Given the description of an element on the screen output the (x, y) to click on. 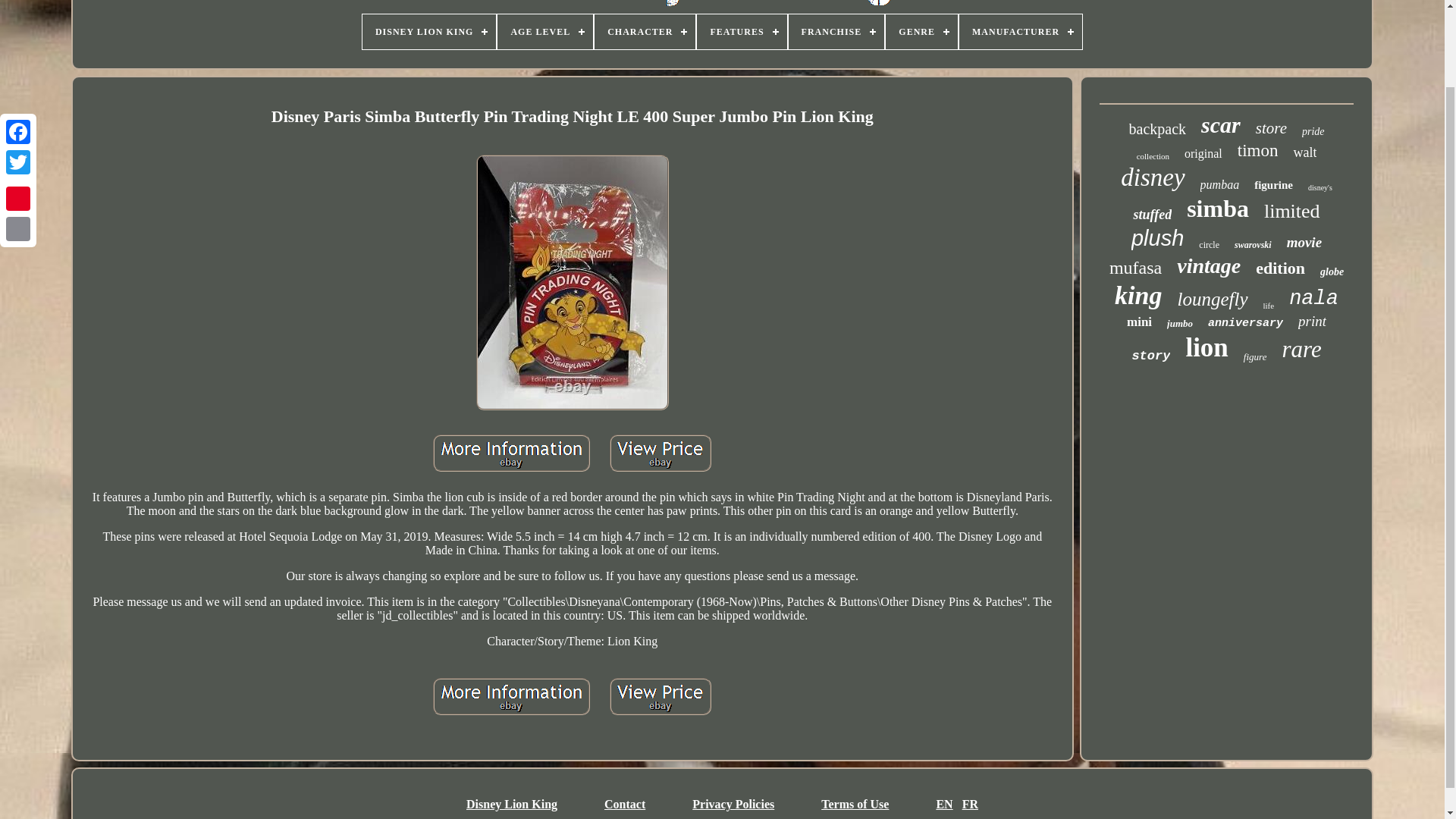
CHARACTER (644, 31)
AGE LEVEL (544, 31)
DISNEY LION KING (429, 31)
